Given the description of an element on the screen output the (x, y) to click on. 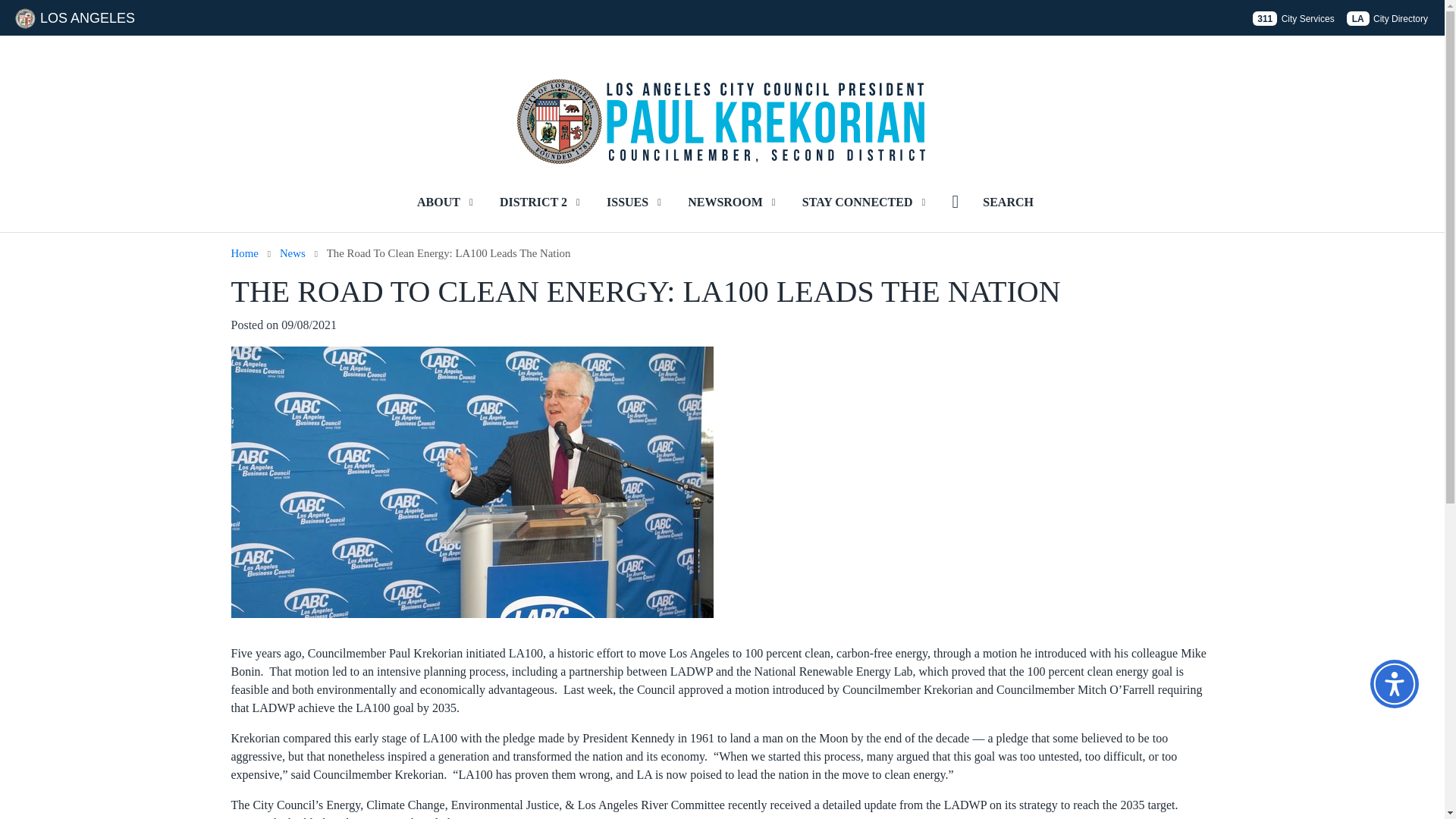
Home (243, 253)
News (292, 253)
SEARCH (1008, 202)
Accessibility Menu (1394, 684)
LA City Directory (1387, 18)
311 City Services (1292, 18)
Home (724, 100)
